Given the description of an element on the screen output the (x, y) to click on. 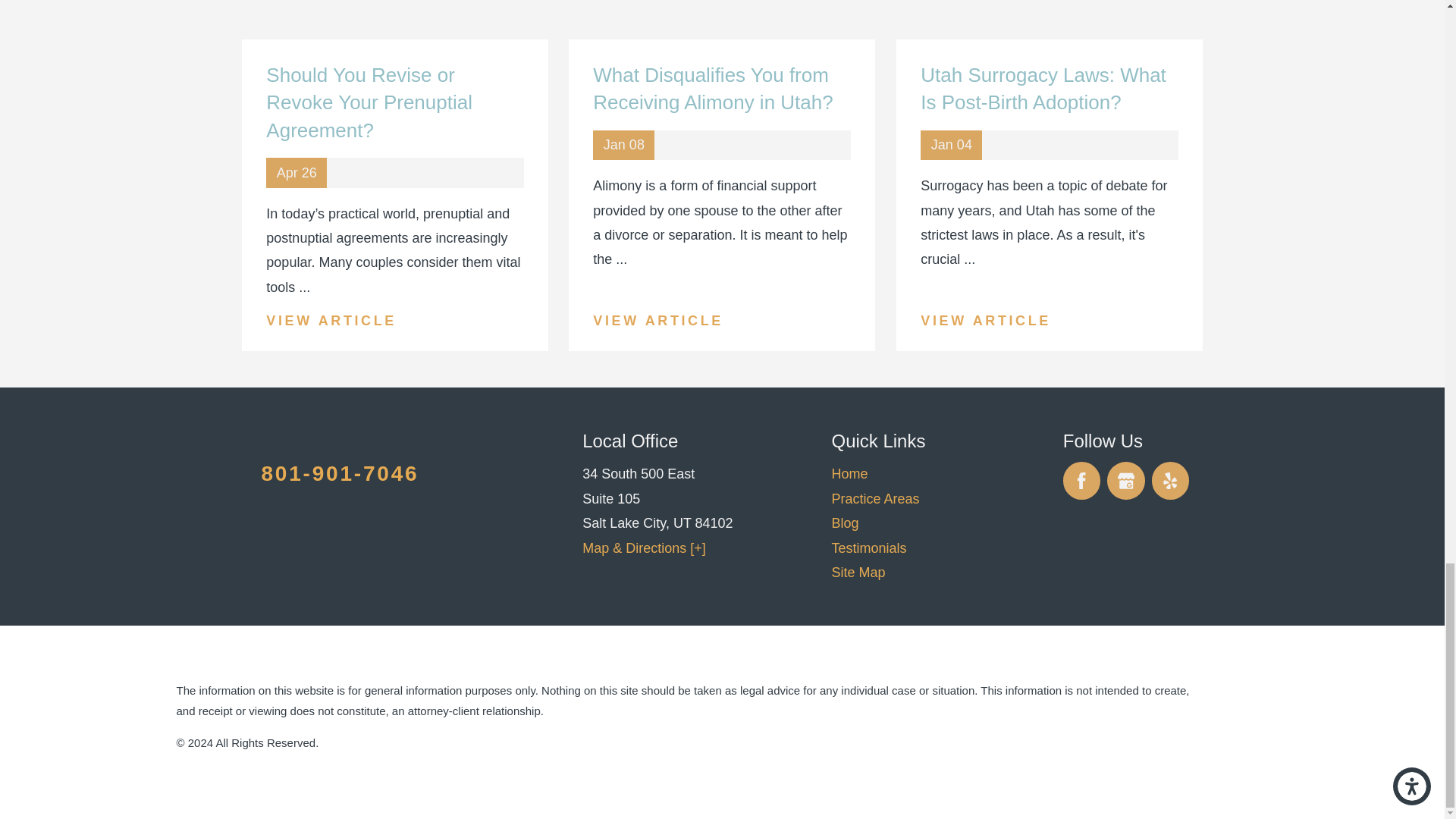
Google Business Profile (1125, 480)
Facebook (1081, 480)
Yelp (1170, 480)
